Given the description of an element on the screen output the (x, y) to click on. 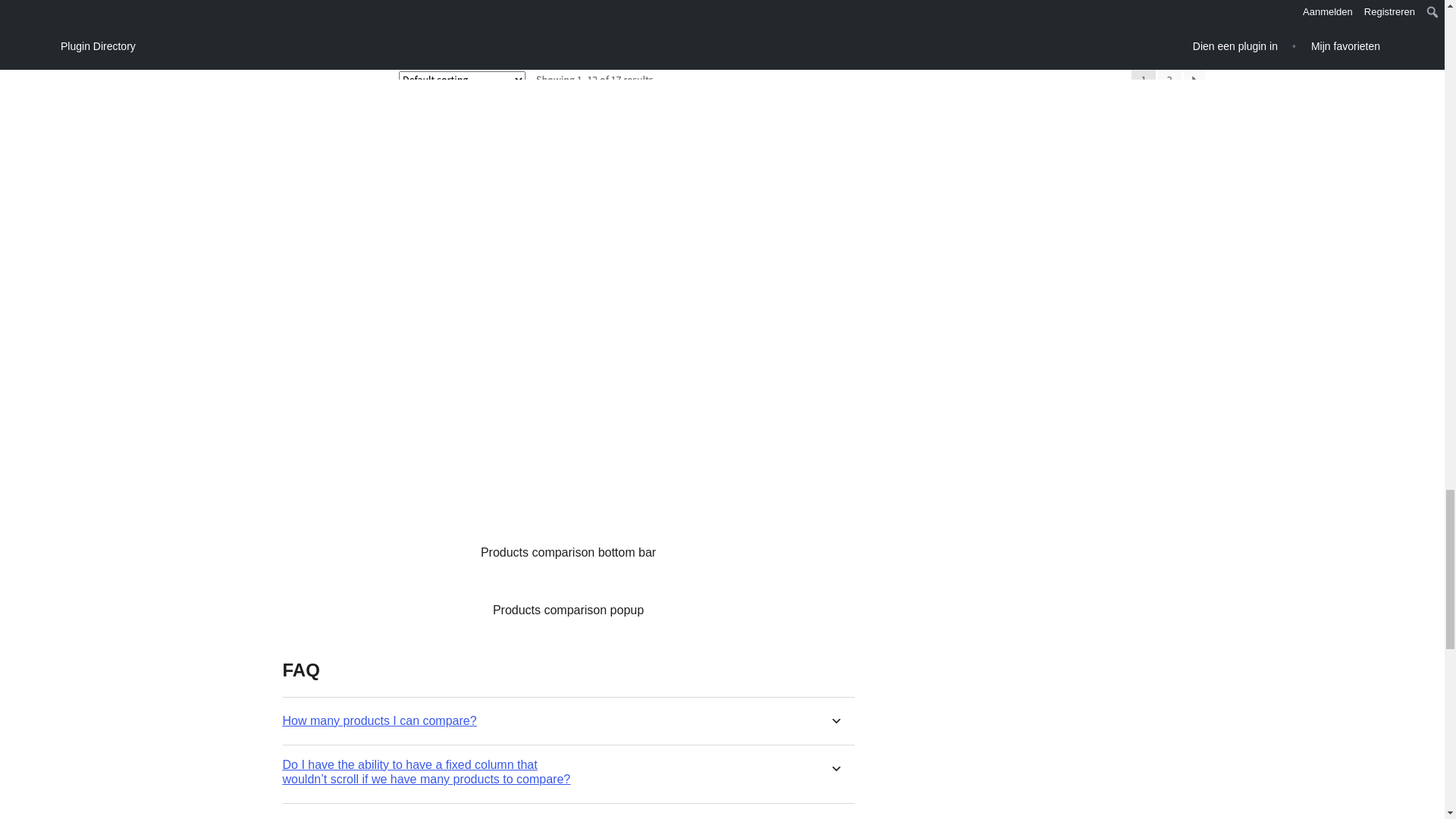
How many products I can compare? (379, 720)
